Given the description of an element on the screen output the (x, y) to click on. 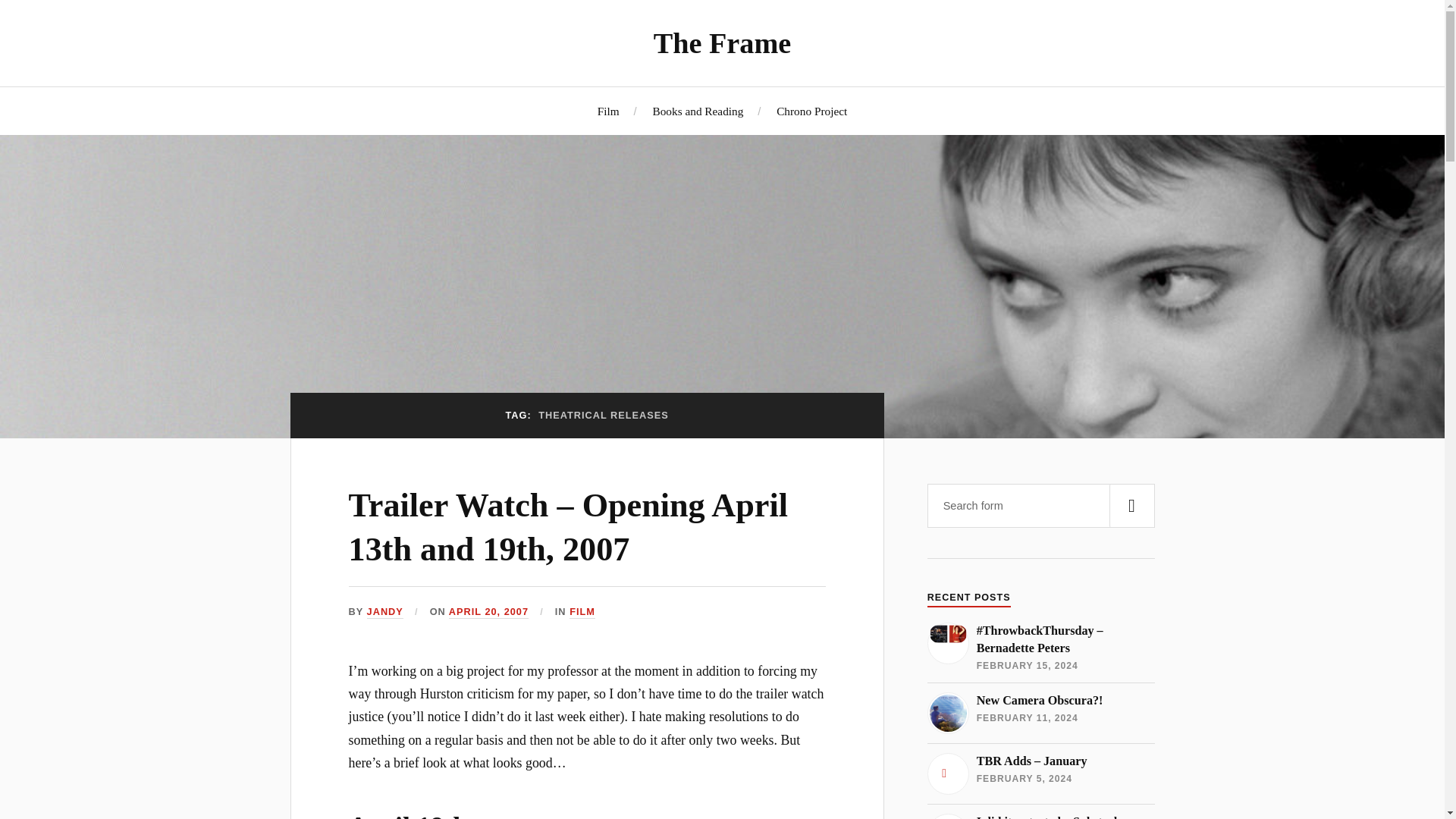
Posts by Jandy (384, 612)
Chrono Project (811, 110)
Books and Reading (698, 110)
FILM (582, 612)
JANDY (384, 612)
APRIL 20, 2007 (488, 612)
The Frame (722, 42)
